Given the description of an element on the screen output the (x, y) to click on. 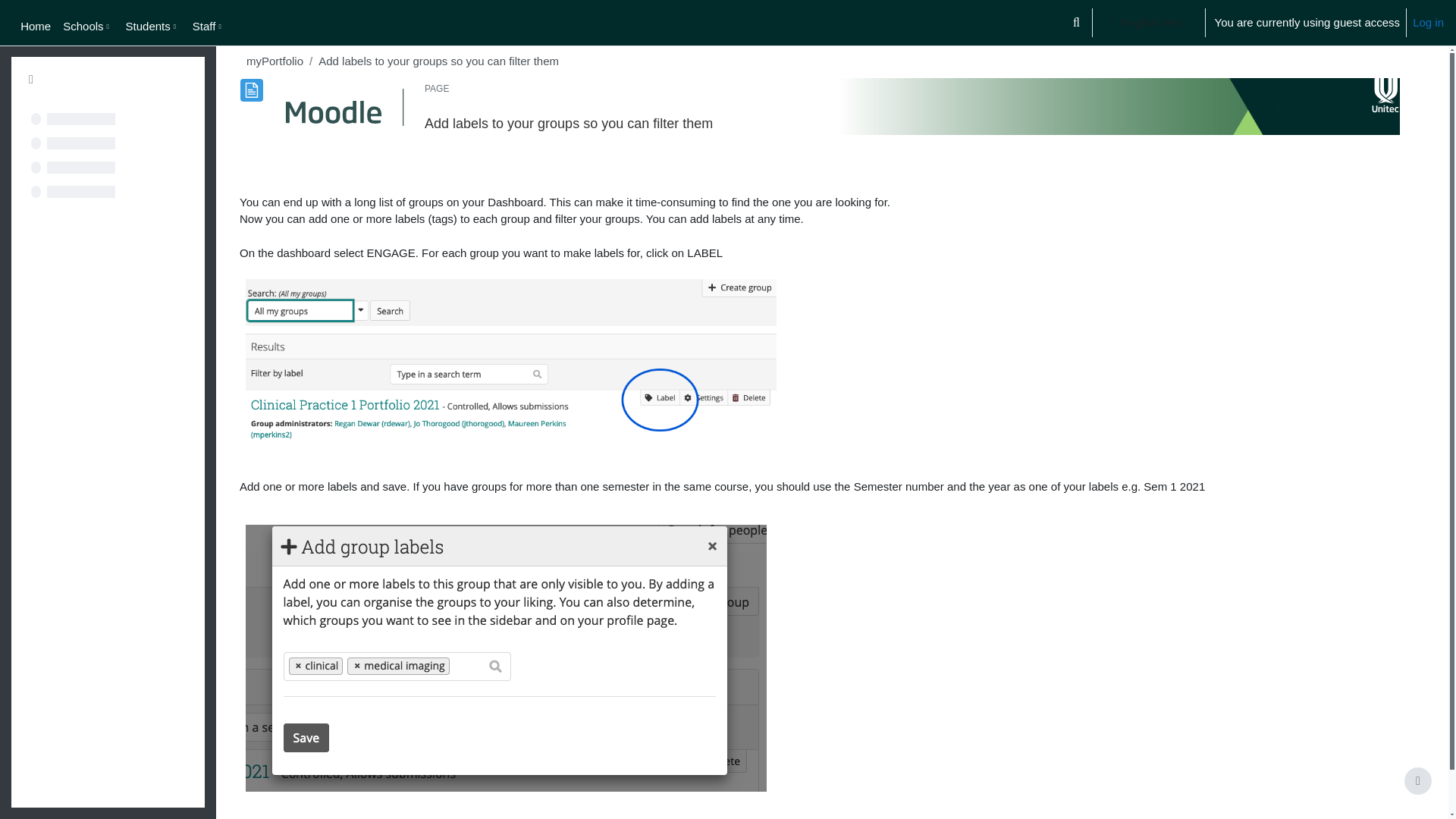
Home (35, 26)
Students (152, 26)
Schools (87, 26)
myPortfolio (274, 60)
Close course index (30, 80)
